Given the description of an element on the screen output the (x, y) to click on. 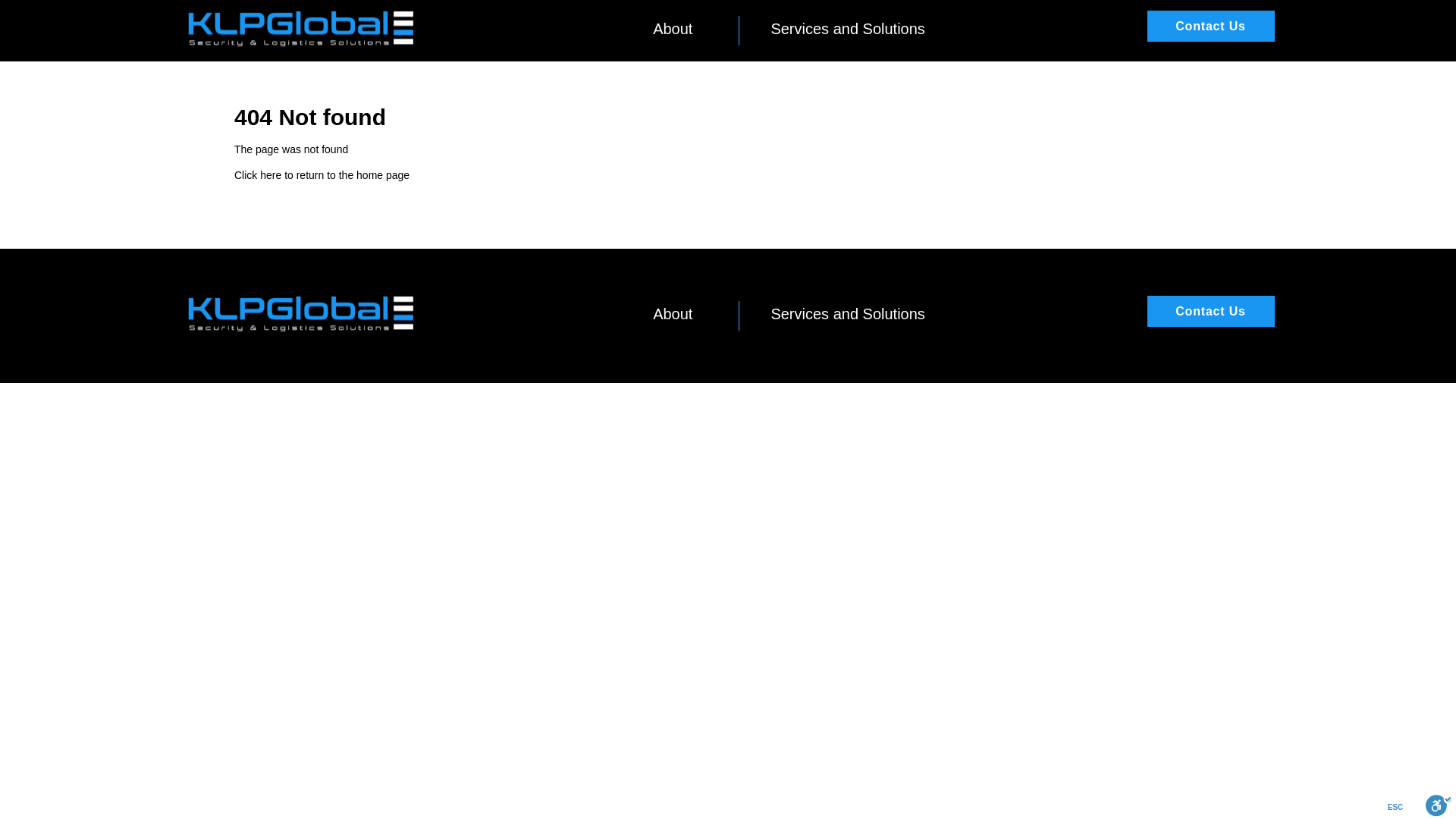
Services and Solutions (847, 28)
Click here to return to the home page (321, 174)
Contact Us (1210, 25)
About (672, 28)
